Given the description of an element on the screen output the (x, y) to click on. 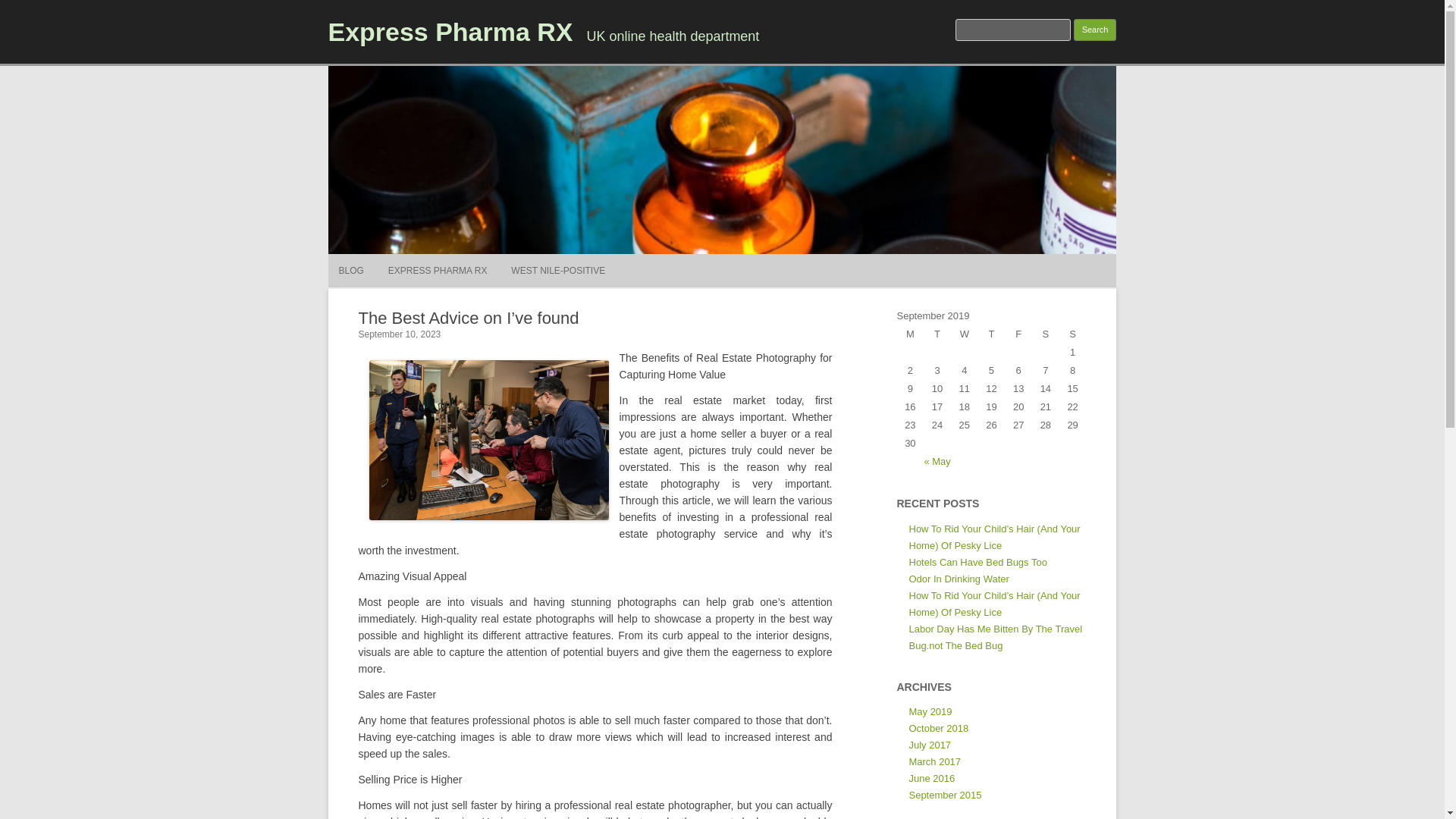
Labor Day Has Me Bitten By The Travel Bug.not The Bed Bug (994, 637)
12:10 am (399, 334)
Friday (1018, 334)
WEST NILE-POSITIVE (558, 270)
Search (1095, 29)
March 2017 (934, 761)
October 2018 (938, 727)
Wednesday (964, 334)
Skip to content (757, 258)
Skip to content (757, 258)
June 2016 (931, 778)
May 2019 (930, 711)
September 10, 2023 (399, 334)
July 2017 (929, 745)
EXPRESS PHARMA RX (437, 270)
